Given the description of an element on the screen output the (x, y) to click on. 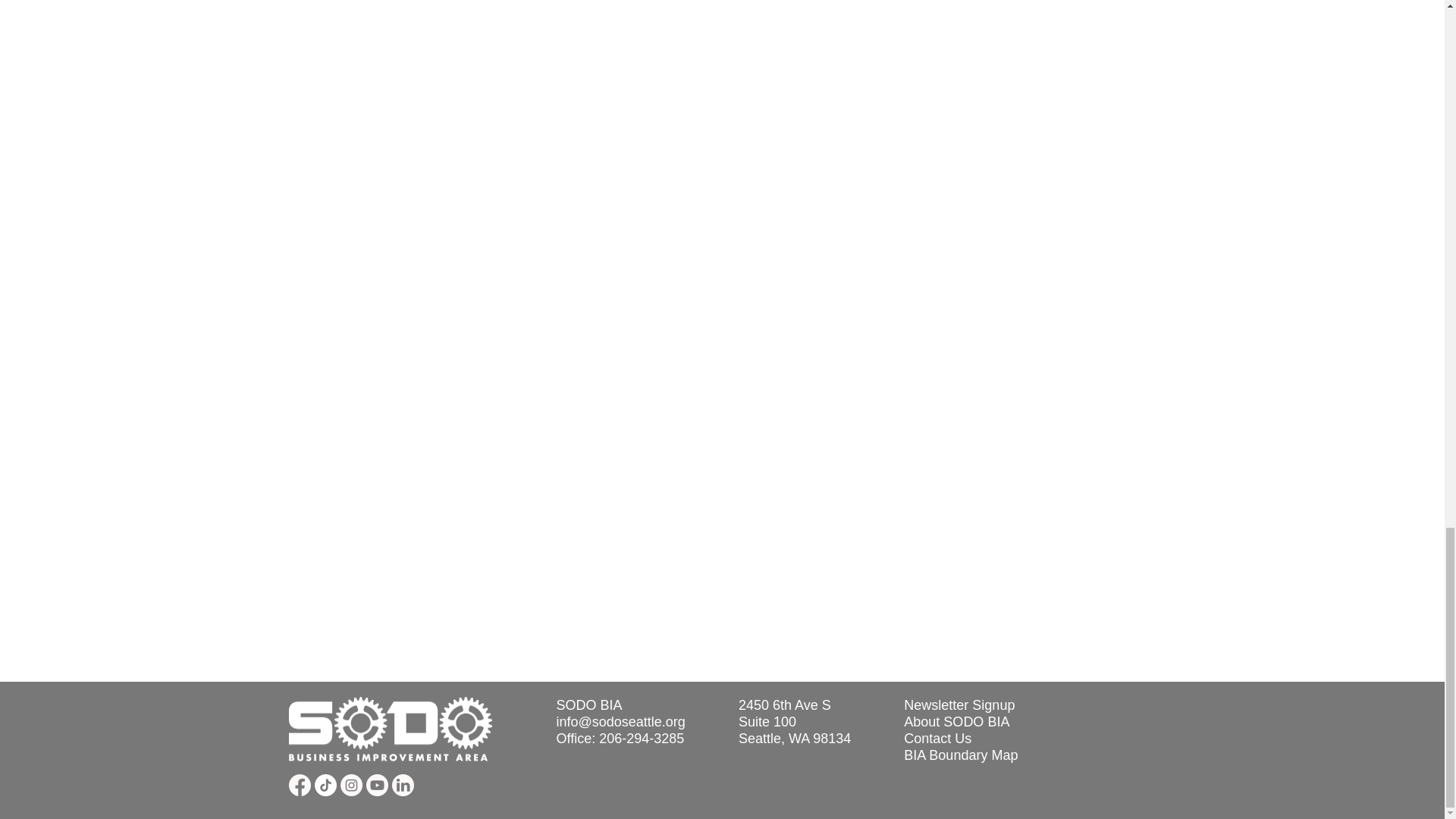
Facebook (299, 784)
LinkedIn (402, 784)
YouTube (376, 784)
SODO (390, 728)
Instagram (350, 784)
TikTok (325, 784)
